Given the description of an element on the screen output the (x, y) to click on. 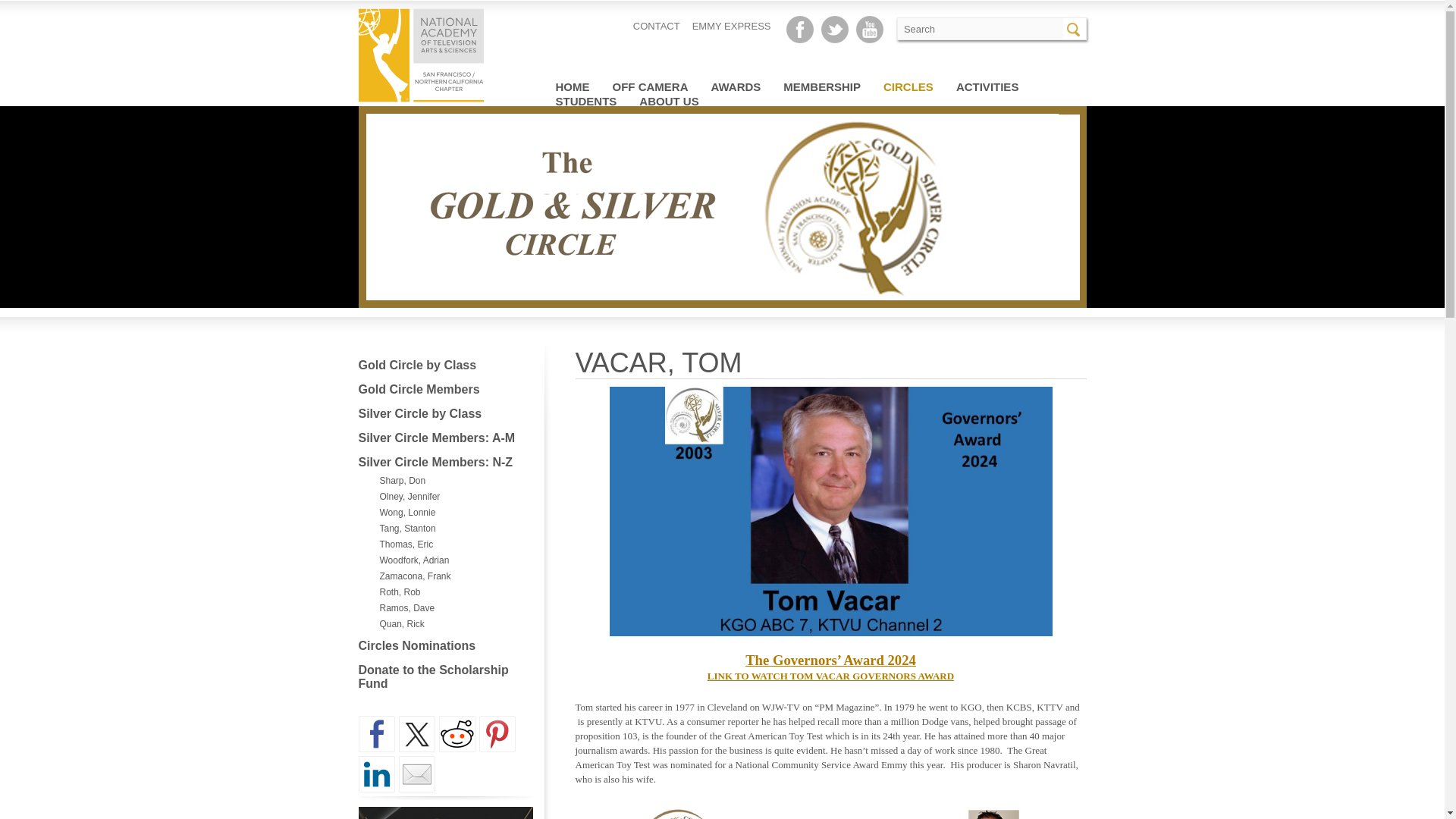
Skip to secondary content (863, 87)
Share on Reddit (456, 733)
CONTACT (656, 25)
MEMBERSHIP (821, 86)
Search (1074, 28)
Skip to primary content (860, 87)
AWARDS (736, 86)
Share by email (416, 773)
Skip to secondary content (863, 87)
HOME (571, 86)
EMMY EXPRESS (732, 25)
Pin it with Pinterest (497, 733)
Share on Linkedin (376, 773)
Share on Twitter (416, 733)
Skip to primary content (860, 87)
